Given the description of an element on the screen output the (x, y) to click on. 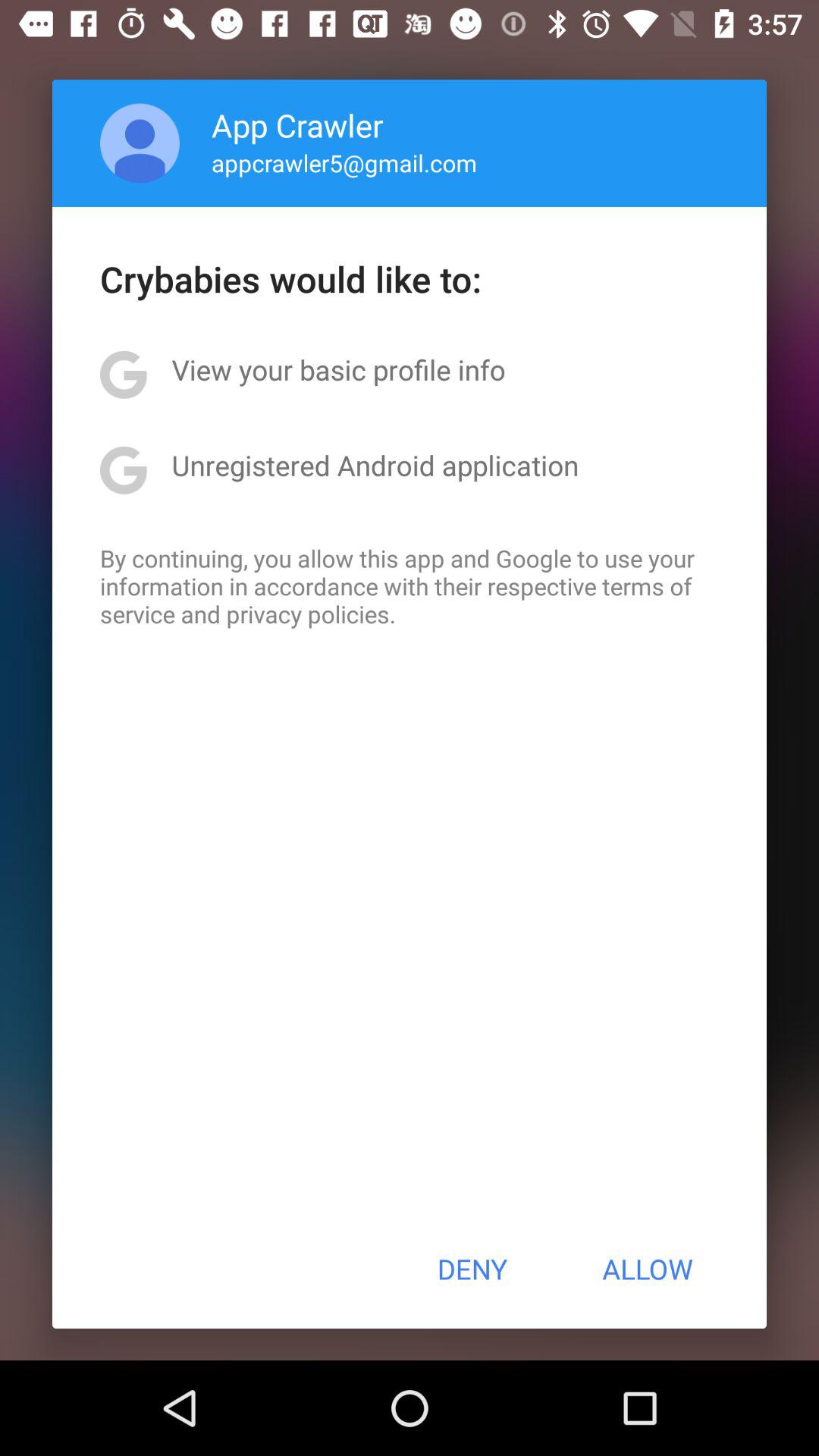
open icon to the left of allow item (471, 1268)
